Given the description of an element on the screen output the (x, y) to click on. 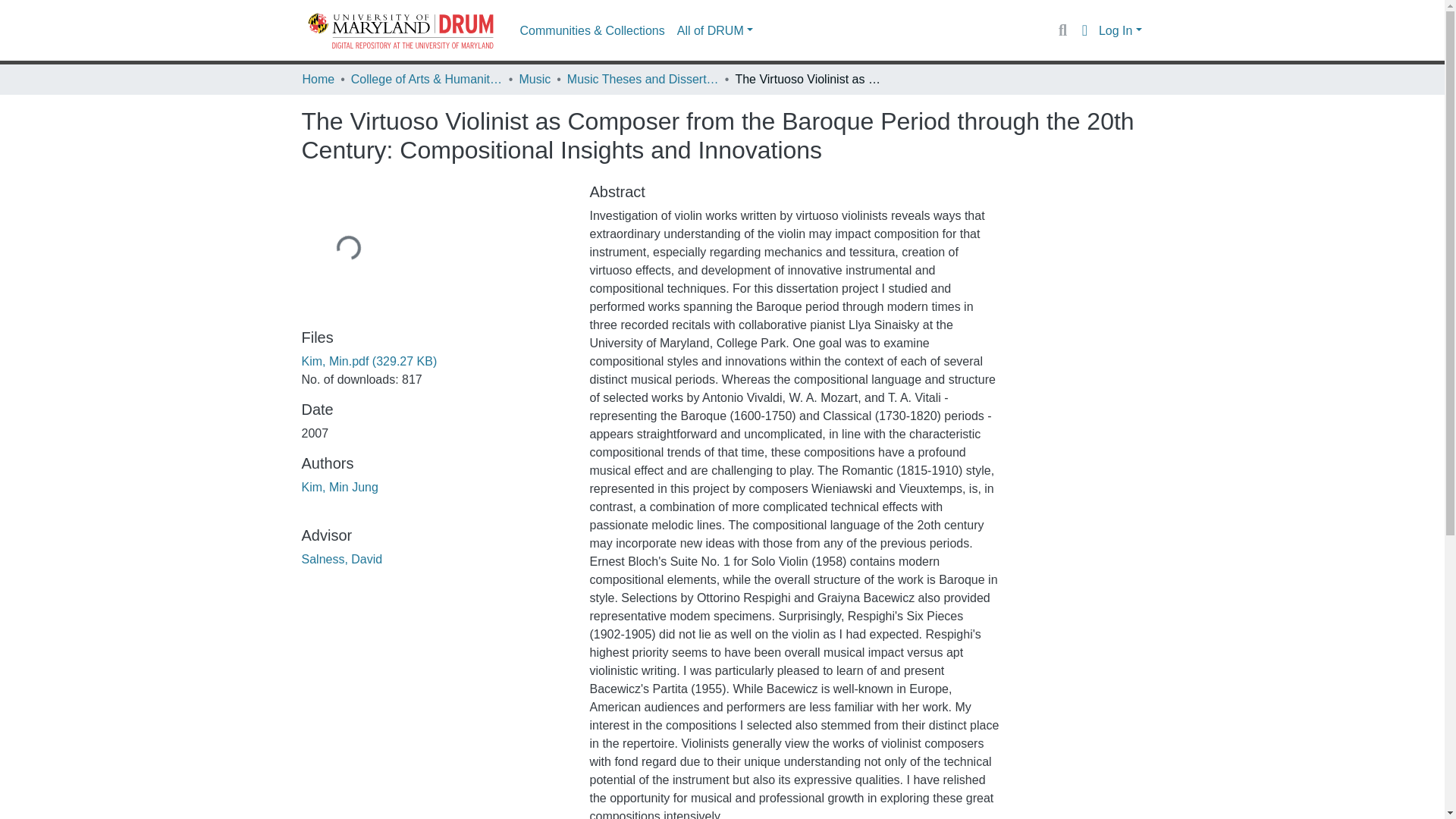
Kim, Min Jung (339, 486)
All of DRUM (714, 30)
Salness, David (341, 558)
Music (534, 79)
Language switch (1084, 30)
Search (1061, 30)
Log In (1119, 30)
Music Theses and Dissertations (643, 79)
Home (317, 79)
